Given the description of an element on the screen output the (x, y) to click on. 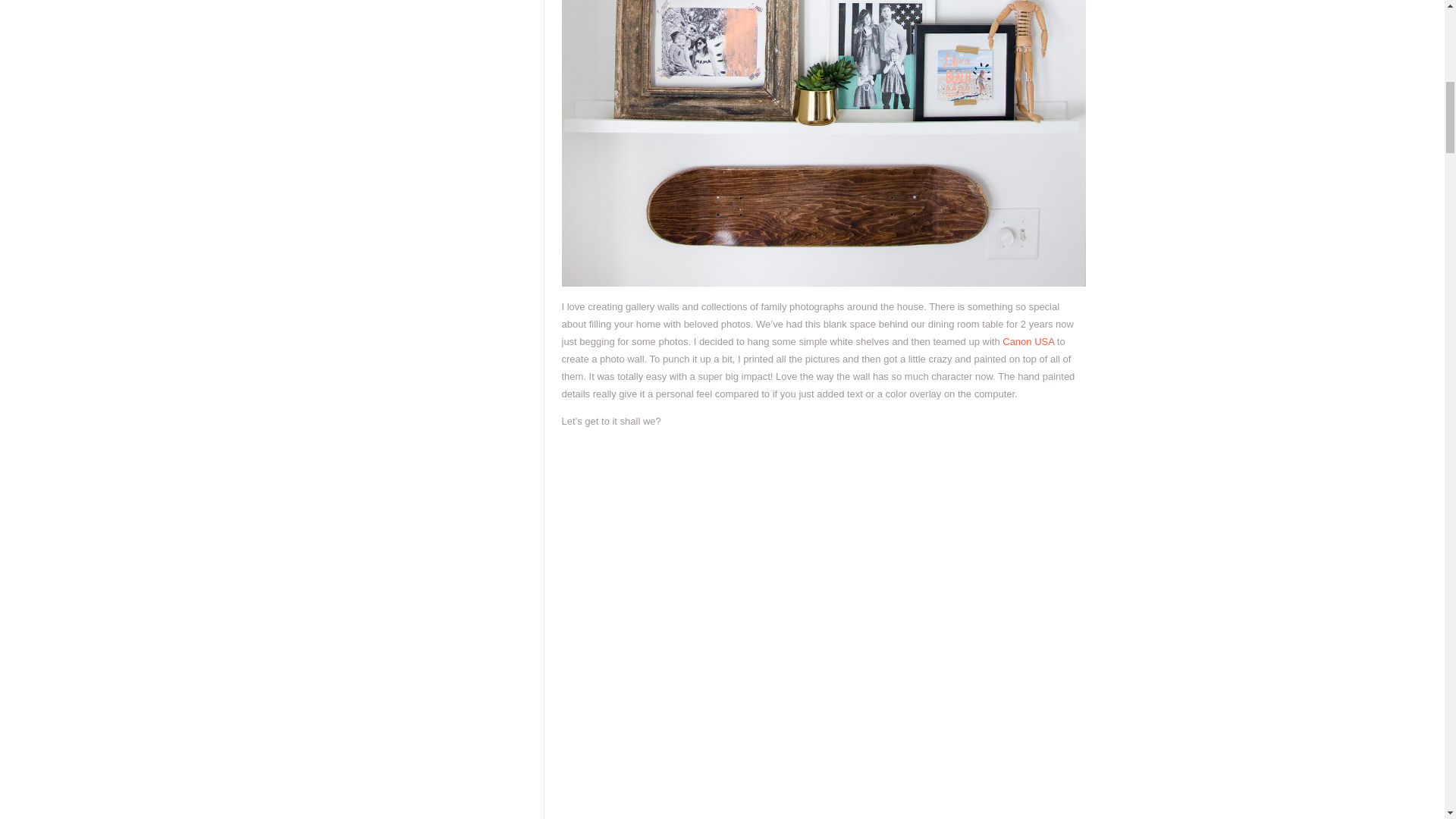
Canon USA (1028, 341)
